Given the description of an element on the screen output the (x, y) to click on. 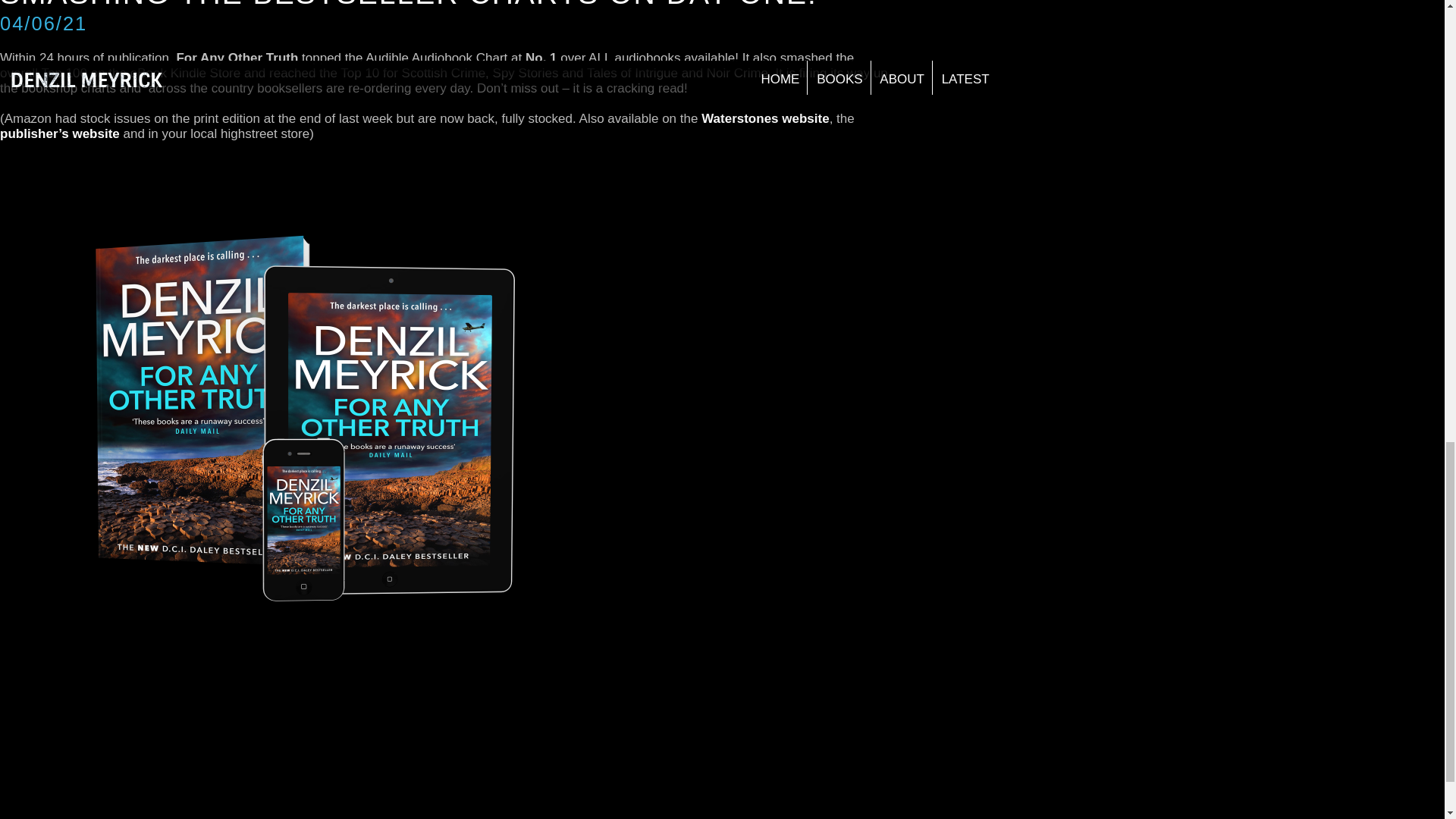
Waterstones website (764, 117)
